Given the description of an element on the screen output the (x, y) to click on. 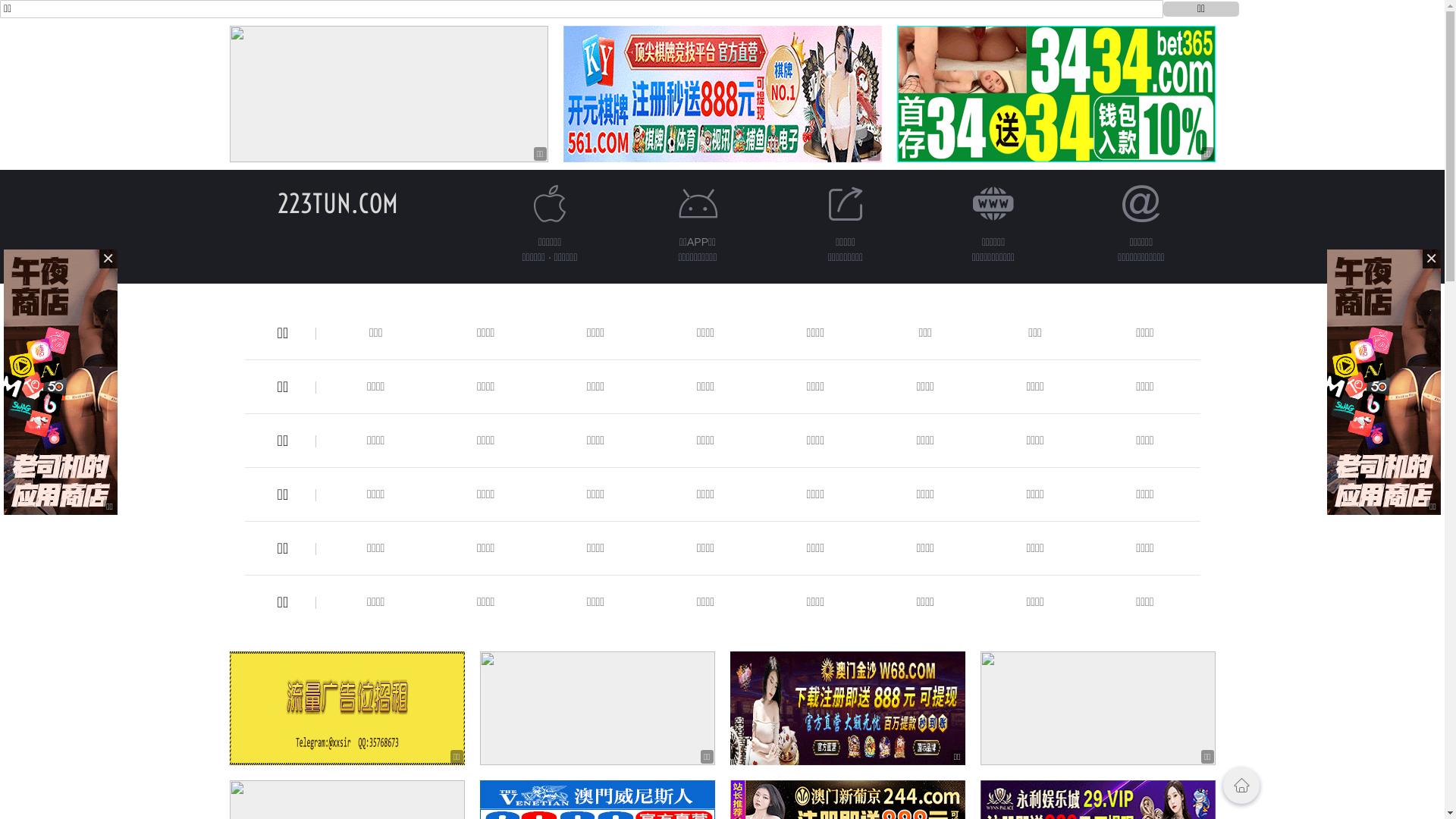
223TUN.COM Element type: text (337, 203)
